Given the description of an element on the screen output the (x, y) to click on. 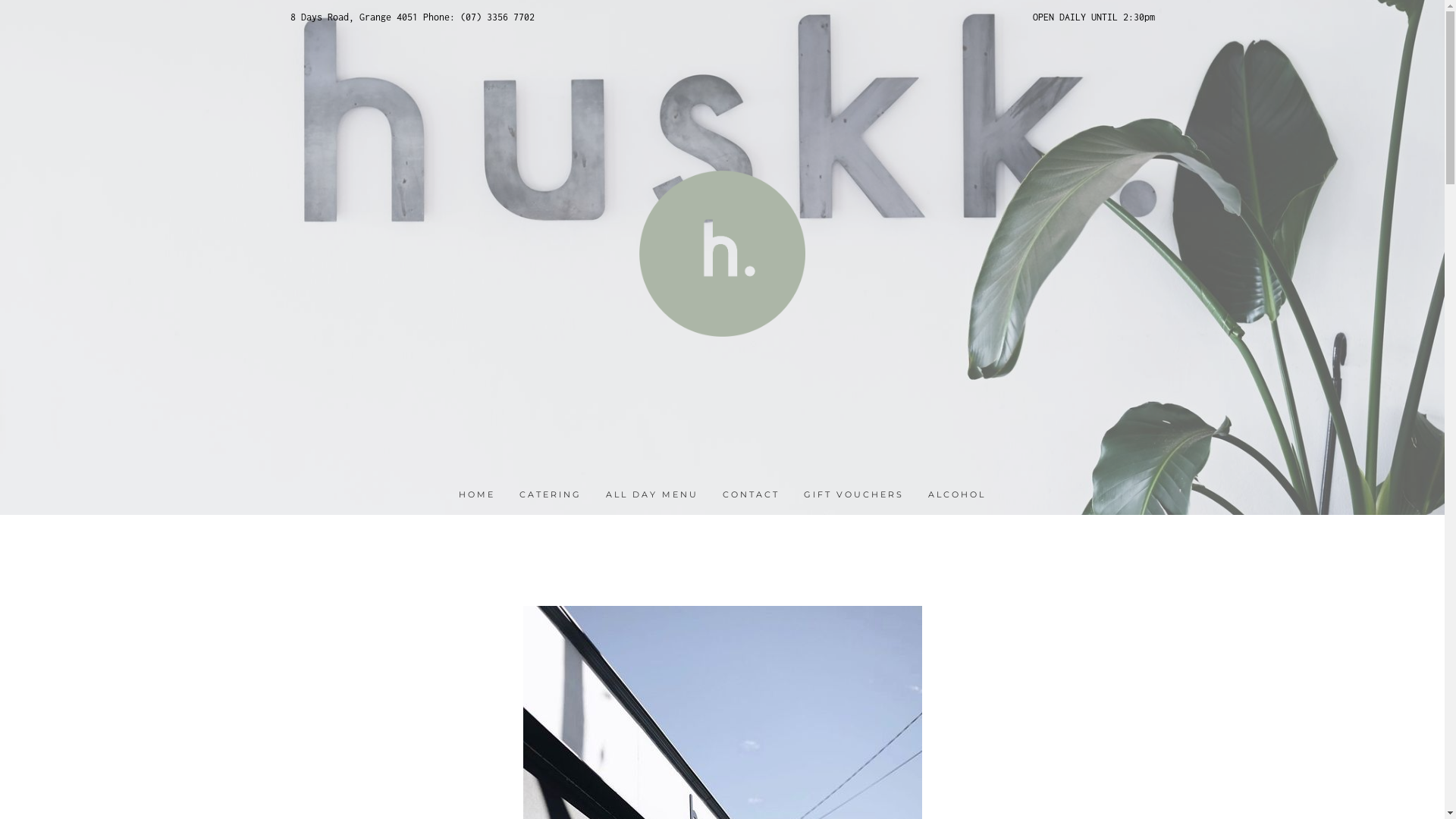
GIFT VOUCHERS Element type: text (853, 495)
ALL DAY MENU Element type: text (651, 495)
CONTACT Element type: text (750, 495)
ALCOHOL Element type: text (956, 495)
CATERING Element type: text (550, 495)
HOME Element type: text (476, 495)
